Given the description of an element on the screen output the (x, y) to click on. 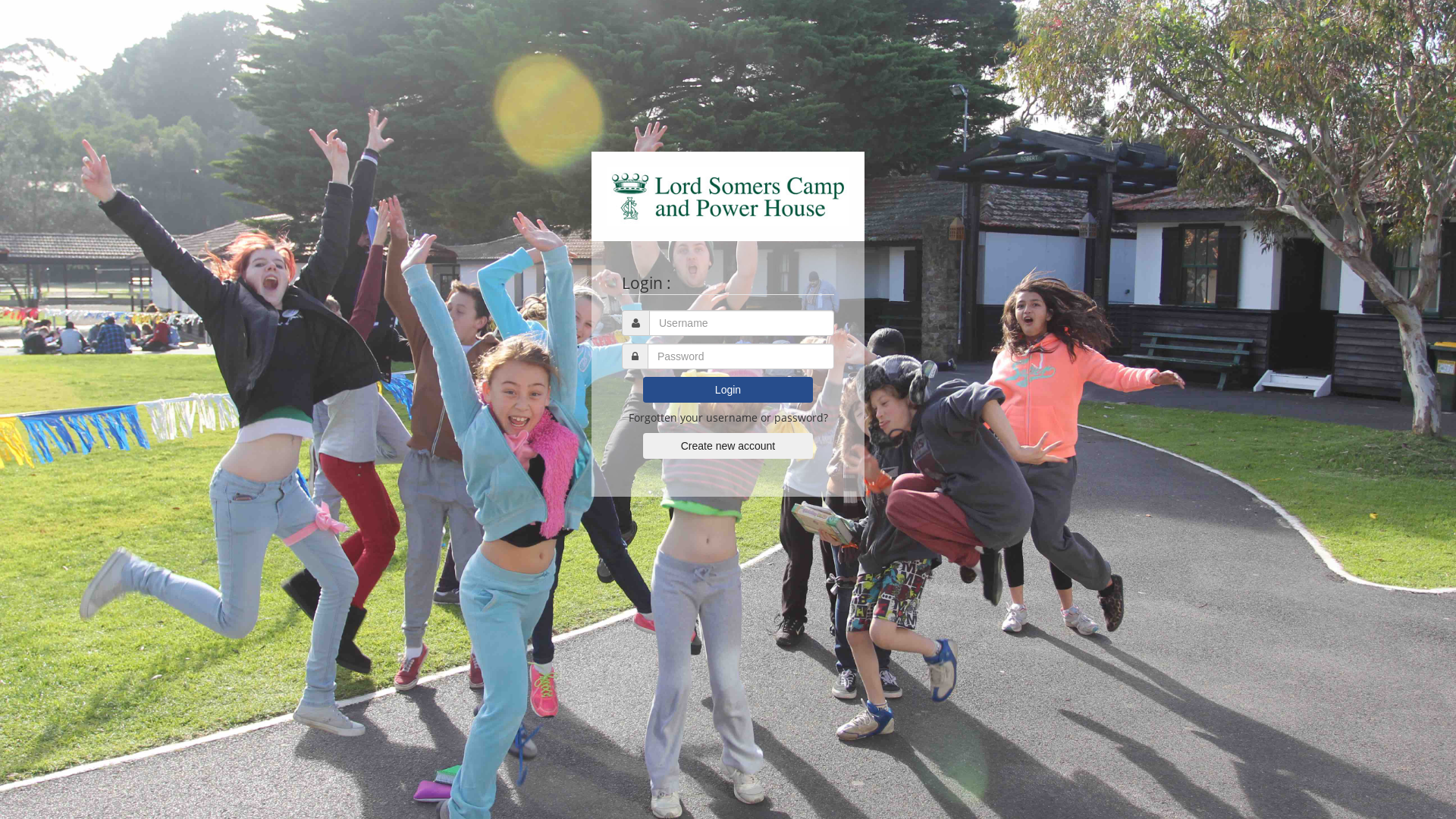
Create new account Element type: text (727, 445)
Login Element type: text (727, 389)
Forgotten your username or password? Element type: text (727, 417)
